Given the description of an element on the screen output the (x, y) to click on. 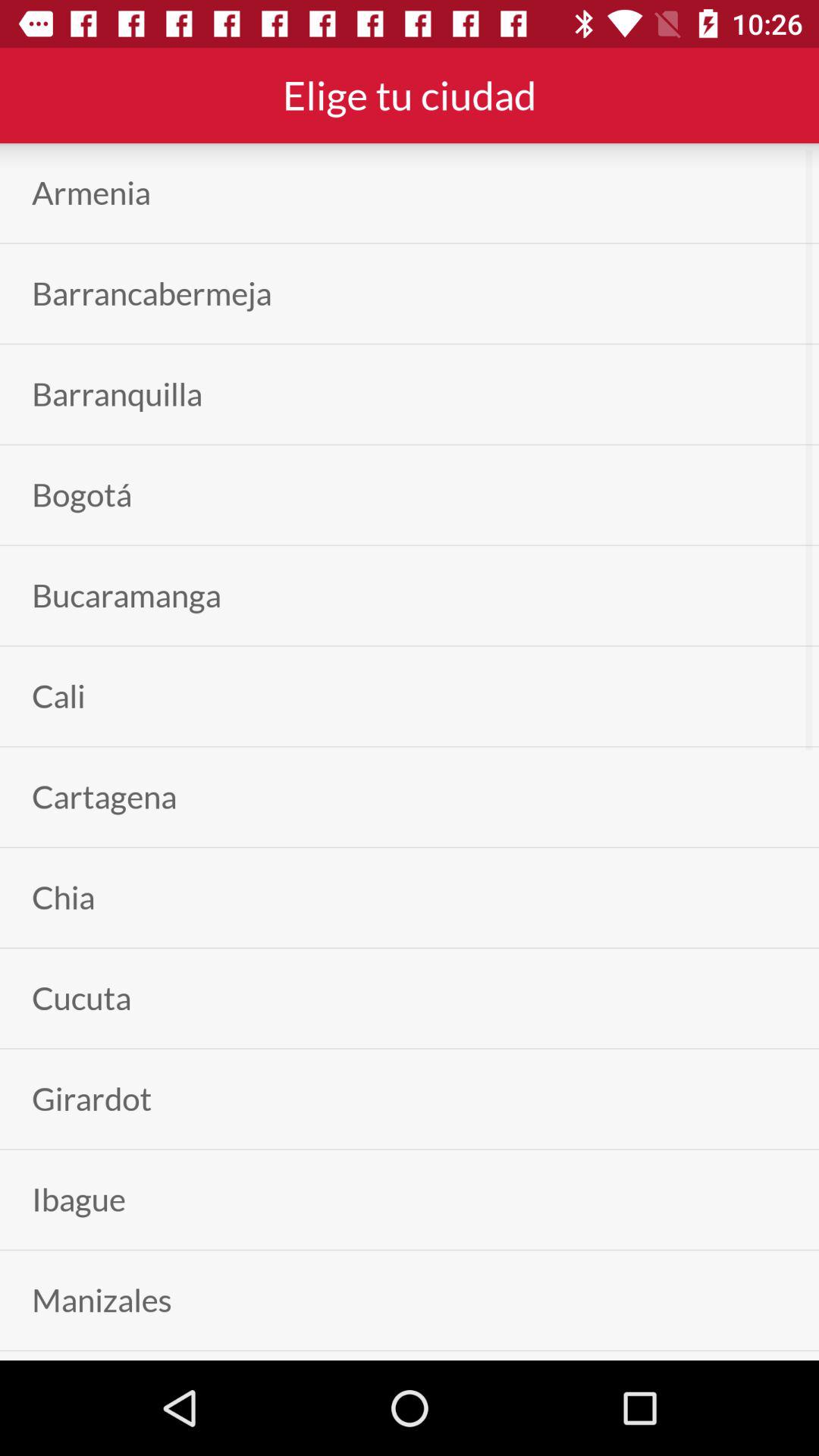
tap the app below chia item (81, 998)
